Given the description of an element on the screen output the (x, y) to click on. 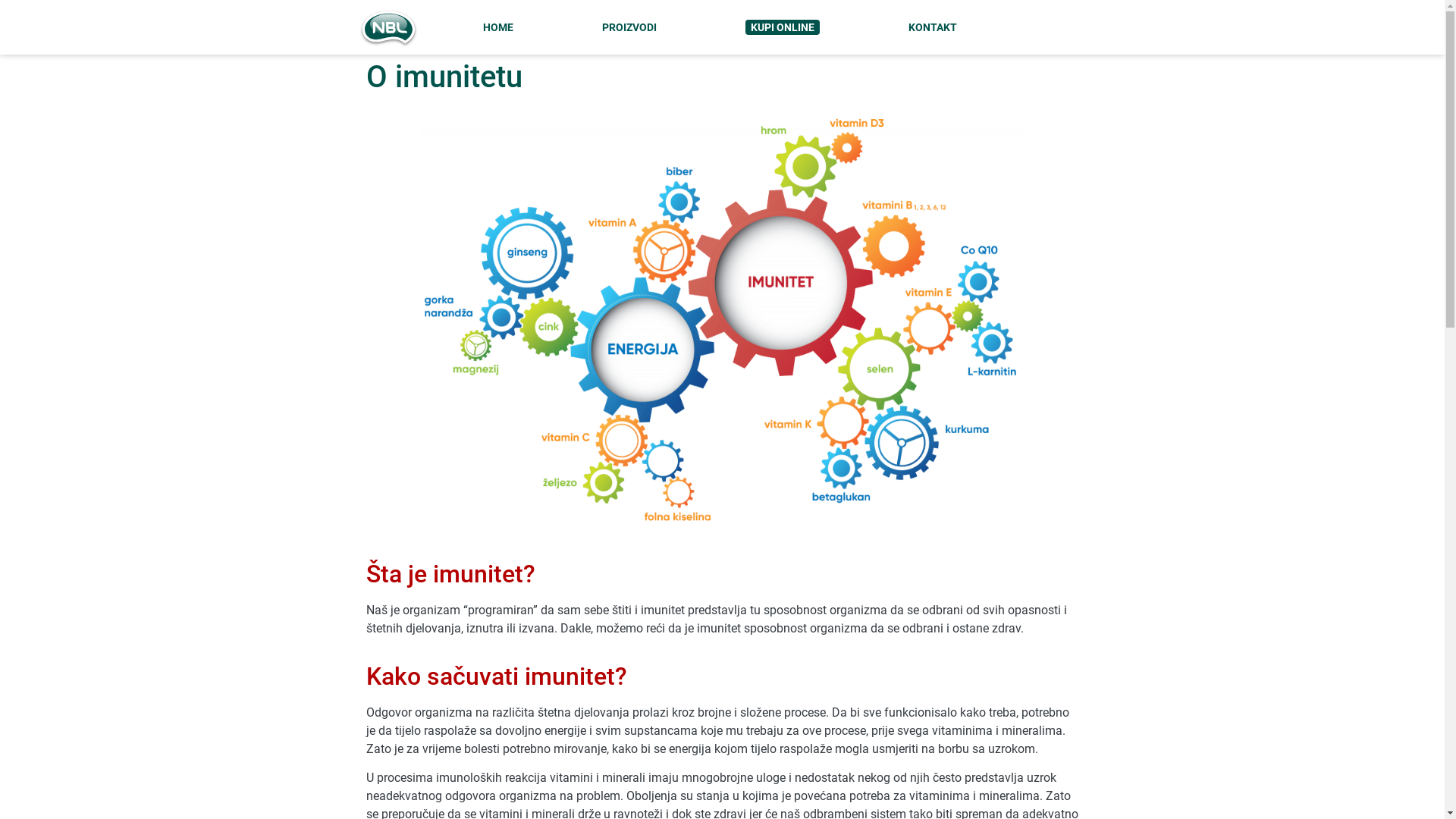
KONTAKT Element type: text (932, 26)
KUPI ONLINE Element type: text (781, 26)
HOME Element type: text (497, 26)
PROIZVODI Element type: text (628, 26)
